Given the description of an element on the screen output the (x, y) to click on. 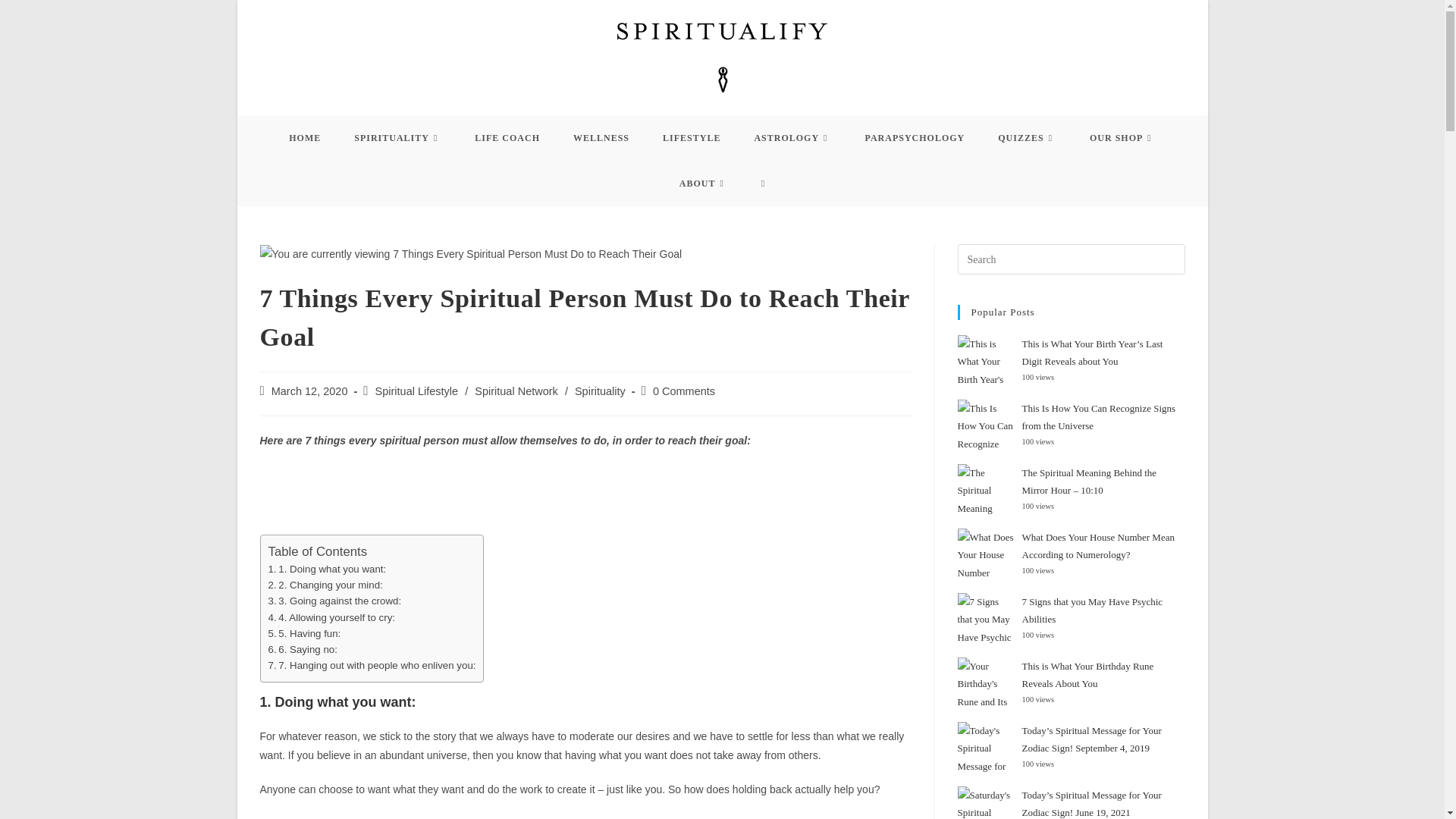
OUR SHOP (1122, 137)
LIFESTYLE (691, 137)
SPIRITUALITY (397, 137)
QUIZZES (1027, 137)
1. Doing what you want: (327, 568)
HOME (304, 137)
LIFE COACH (507, 137)
3. Going against the crowd: (334, 600)
4. Allowing yourself to cry: (331, 617)
2. Changing your mind: (324, 584)
